Given the description of an element on the screen output the (x, y) to click on. 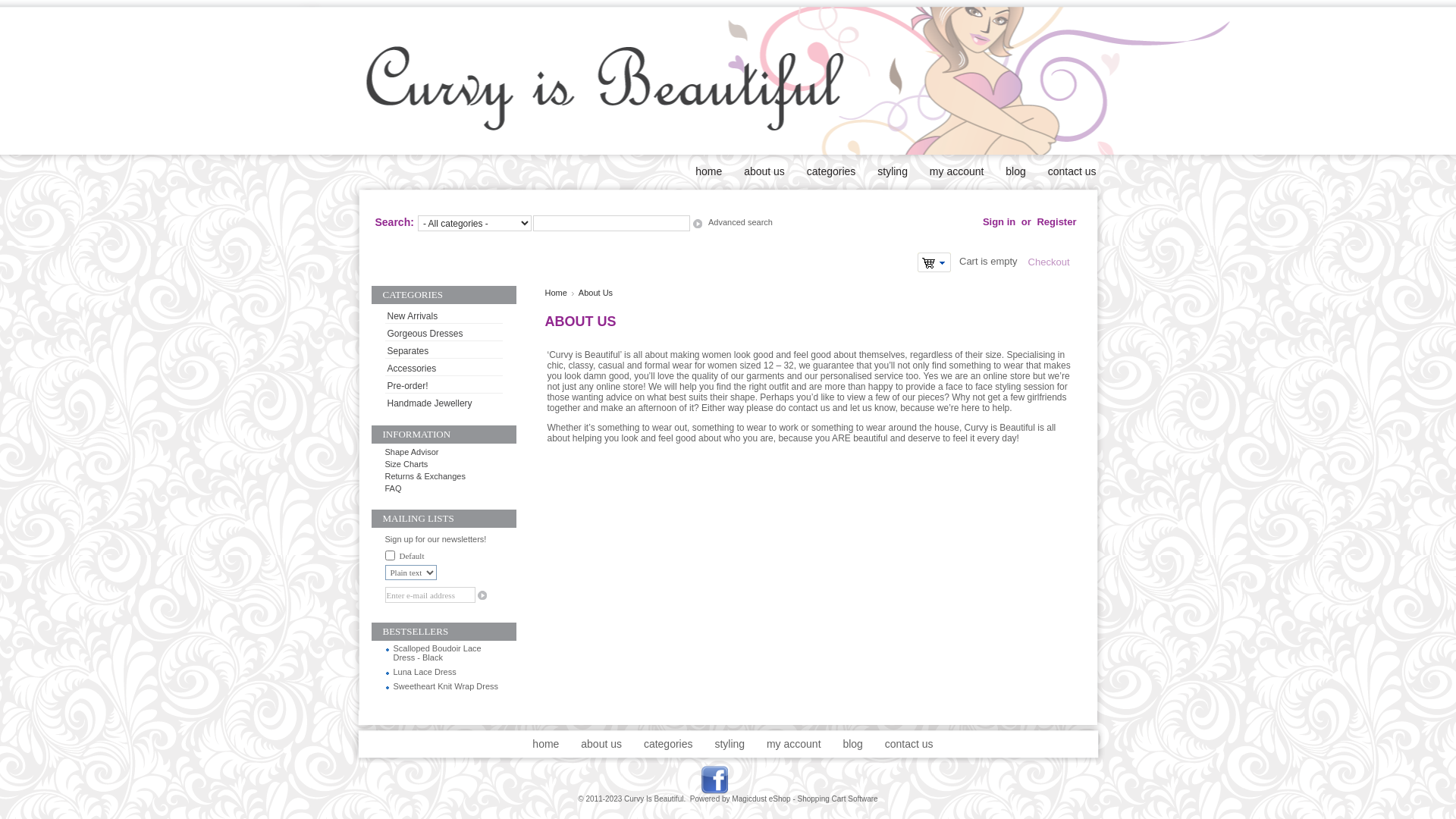
styling Element type: text (724, 743)
home Element type: text (703, 171)
Scalloped Boudoir Lace Dress - Black Element type: text (436, 652)
Cart is empty Element type: hover (933, 262)
Returns & Exchanges Element type: text (425, 475)
Search Element type: hover (696, 223)
Magicdust eShop - Shopping Cart Software Element type: text (804, 798)
categories Element type: text (826, 171)
Sign in Element type: text (998, 221)
blog Element type: text (1010, 171)
blog Element type: text (846, 743)
home Element type: text (540, 743)
FAQ Element type: text (393, 487)
Sweetheart Knit Wrap Dress Element type: text (445, 685)
Shape Advisor Element type: text (412, 451)
Home Element type: text (555, 292)
contact us Element type: text (904, 743)
Checkout Element type: text (1054, 261)
New Arrivals Element type: text (443, 314)
categories Element type: text (663, 743)
Go Element type: hover (480, 594)
Luna Lace Dress Element type: text (423, 671)
Register Element type: text (1056, 221)
Accessories Element type: text (443, 366)
Gorgeous Dresses Element type: text (443, 331)
styling Element type: text (887, 171)
about us Element type: text (759, 171)
contact us Element type: text (1067, 171)
Separates Element type: text (443, 349)
Handmade Jewellery Element type: text (443, 401)
my account Element type: text (789, 743)
Pre-order! Element type: text (443, 384)
my account Element type: text (952, 171)
Size Charts Element type: text (406, 463)
Advanced search Element type: text (741, 221)
about us Element type: text (596, 743)
